Given the description of an element on the screen output the (x, y) to click on. 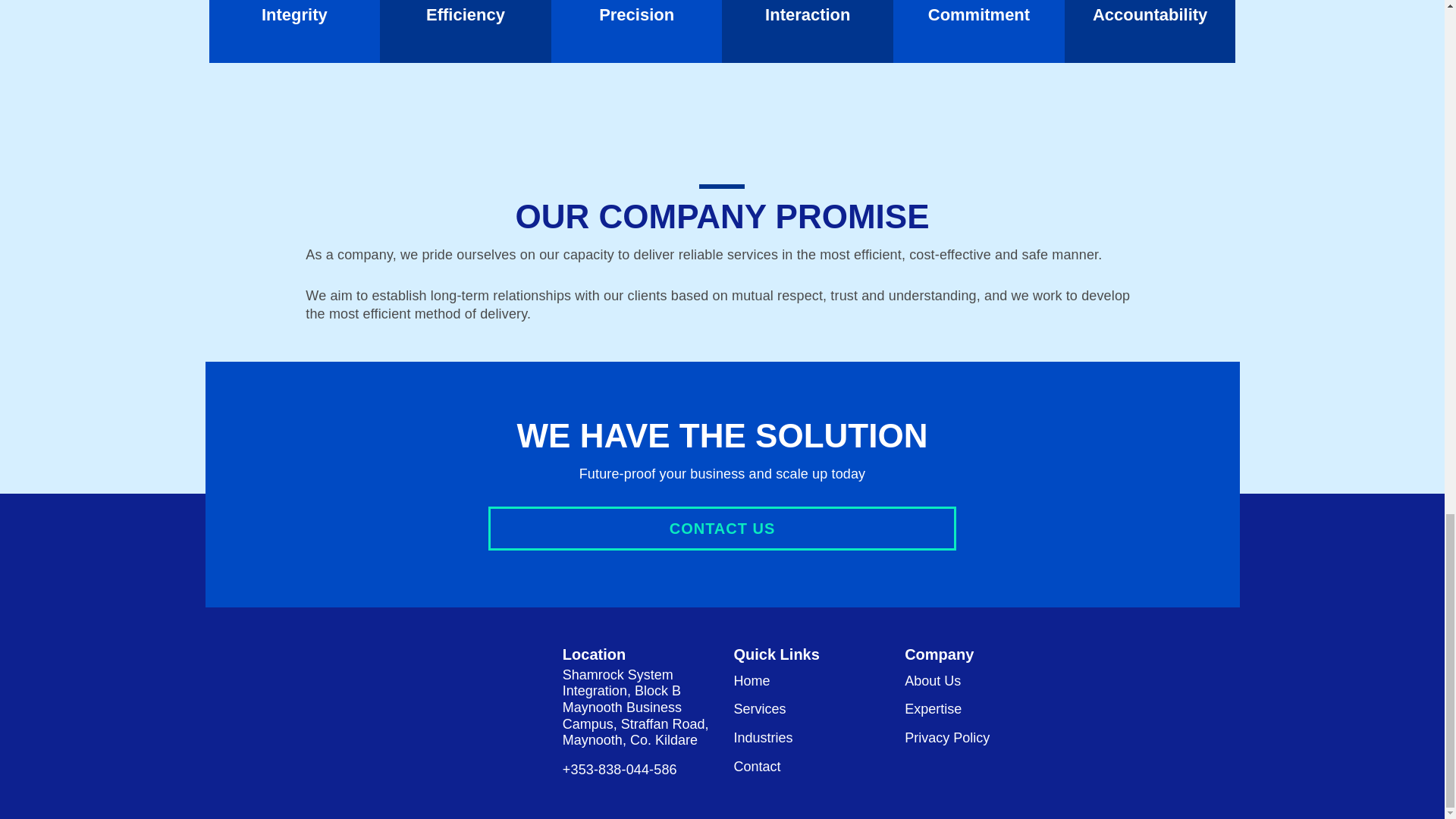
Services (759, 709)
About Us (932, 681)
Expertise (932, 709)
CONTACT US (721, 528)
Industries (762, 737)
Privacy Policy (947, 737)
Home (751, 681)
Contact (756, 767)
